Given the description of an element on the screen output the (x, y) to click on. 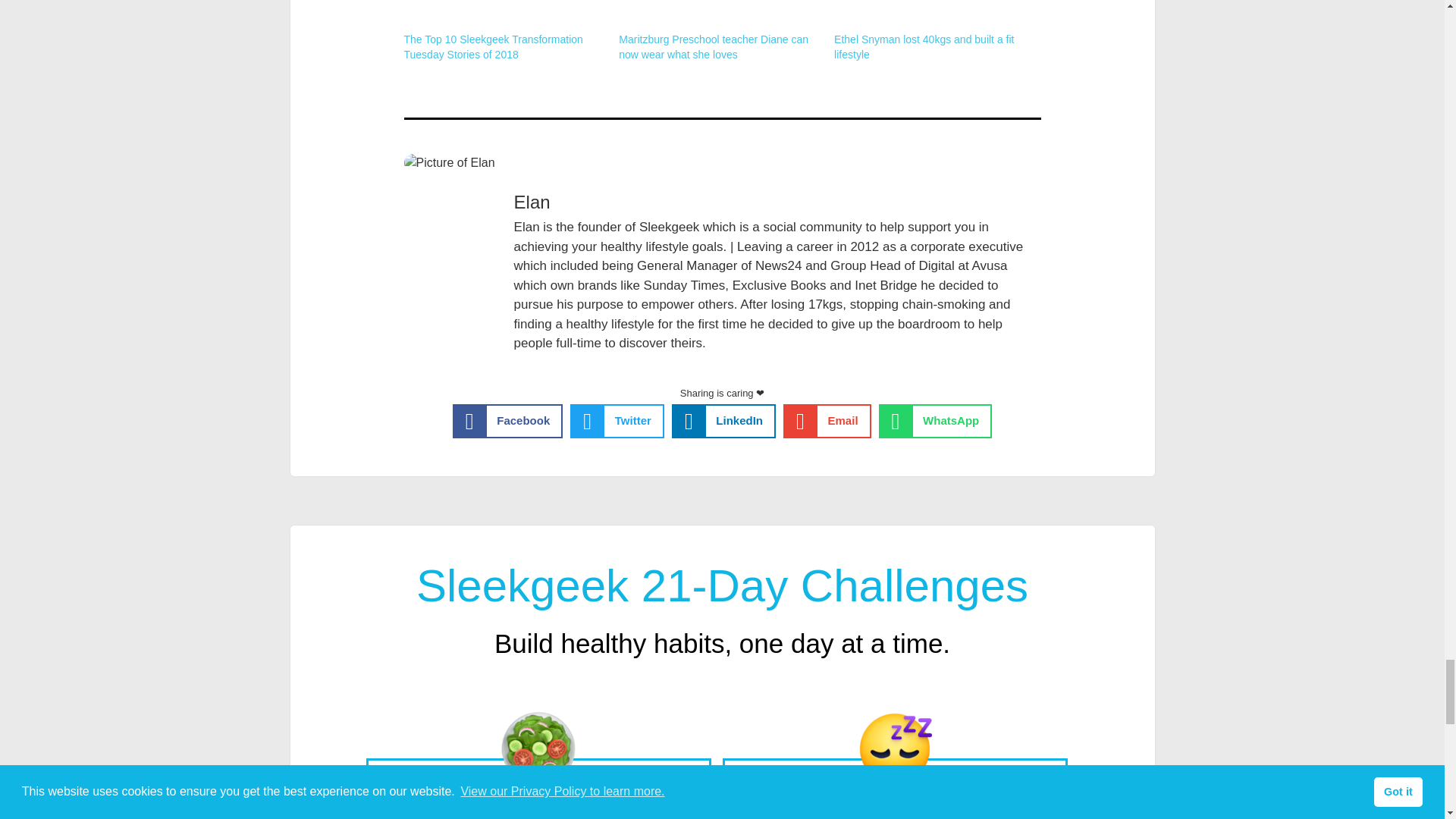
The Top 10 Sleekgeek Transformation Tuesday Stories of 2018 (492, 46)
The Top 10 Sleekgeek Transformation Tuesday Stories of 2018 (503, 16)
Ethel Snyman lost 40kgs and built a fit lifestyle (933, 16)
Ethel Snyman lost 40kgs and built a fit lifestyle (923, 46)
